Given the description of an element on the screen output the (x, y) to click on. 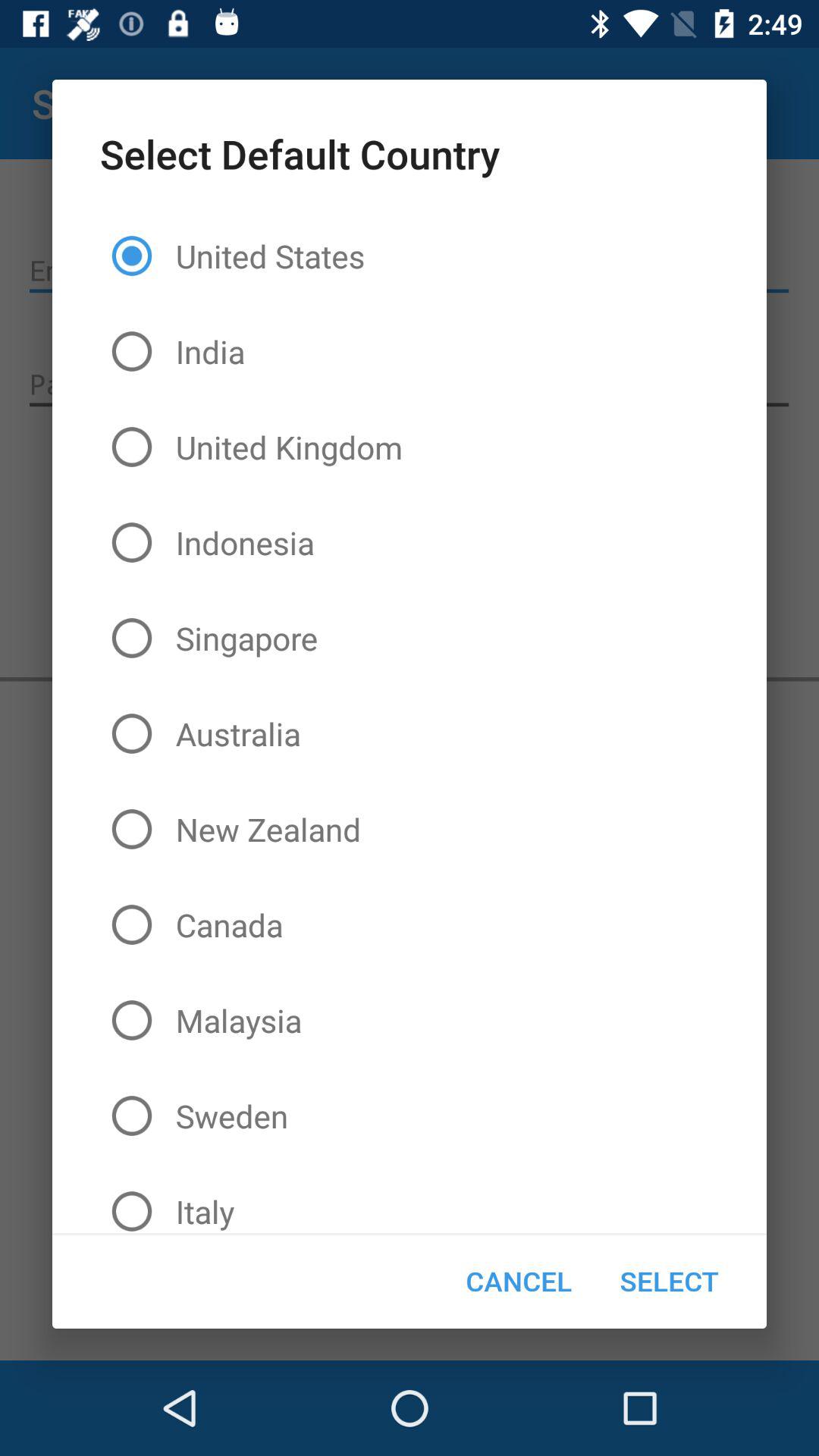
turn off the item to the right of the italy icon (518, 1280)
